Given the description of an element on the screen output the (x, y) to click on. 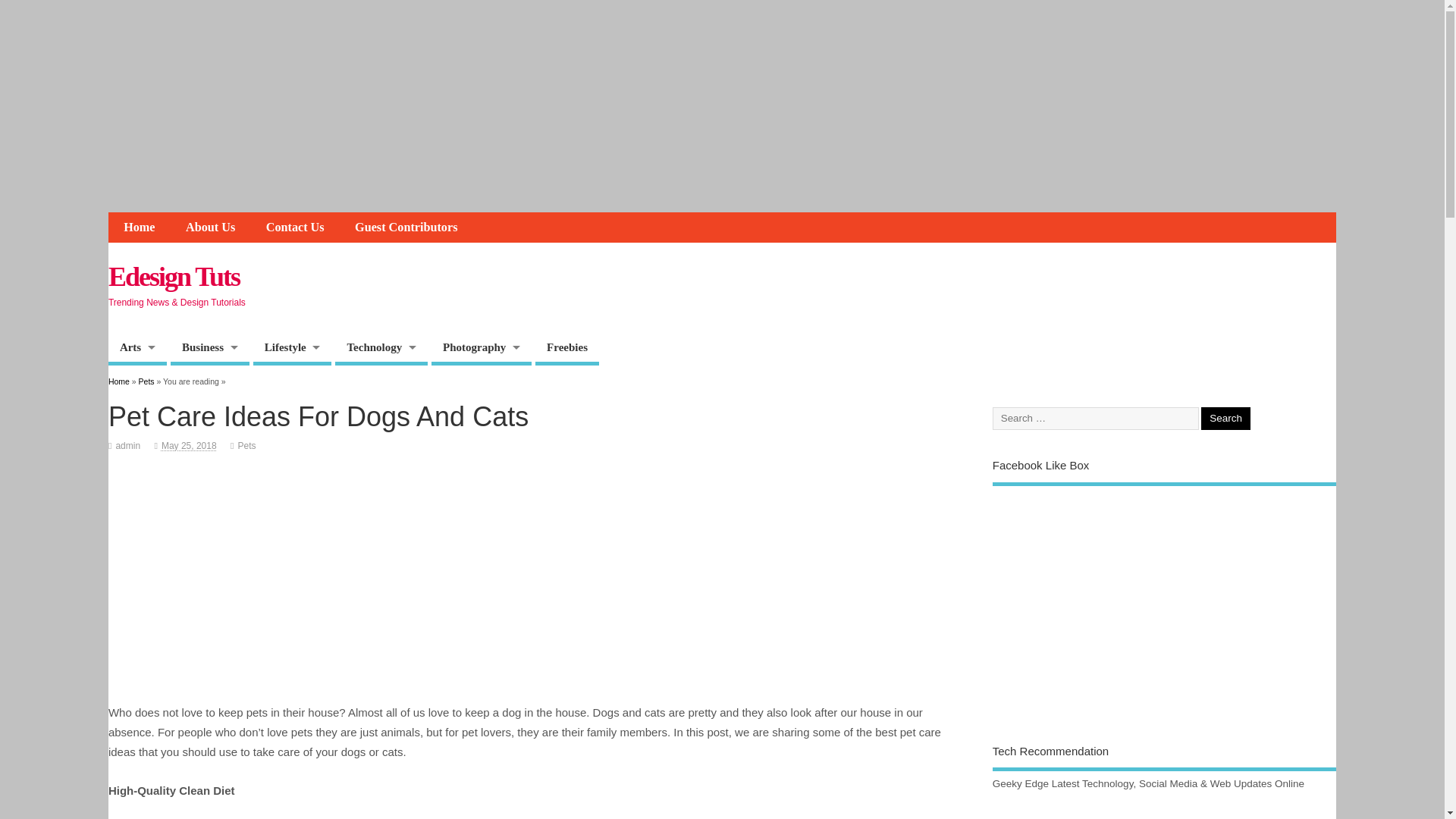
Arts (137, 348)
Edesign Tuts (173, 276)
Search for: (1095, 418)
Business (209, 348)
About Us (210, 227)
Edesign Tuts (173, 276)
Lifestyle (292, 348)
Technology (381, 348)
Photography (480, 348)
Pets (246, 445)
Pets (146, 380)
Search (1225, 418)
admin (127, 445)
